Given the description of an element on the screen output the (x, y) to click on. 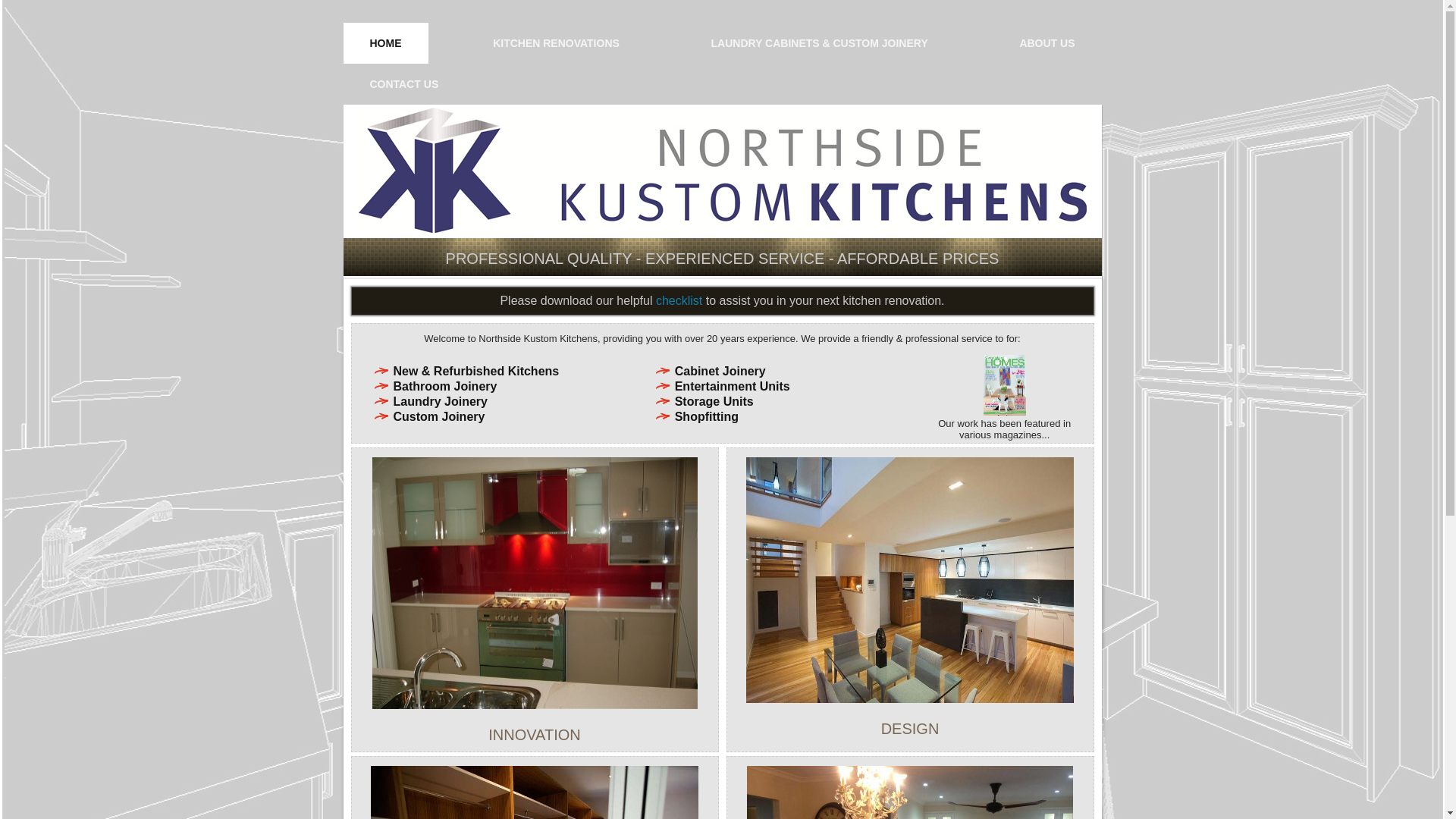
CONTACT US Element type: text (403, 83)
HOME Element type: text (384, 42)
ABOUT US Element type: text (1046, 42)
checklist Element type: text (678, 300)
KITCHEN RENOVATIONS Element type: text (556, 42)
LAUNDRY CABINETS & CUSTOM JOINERY Element type: text (818, 42)
